Given the description of an element on the screen output the (x, y) to click on. 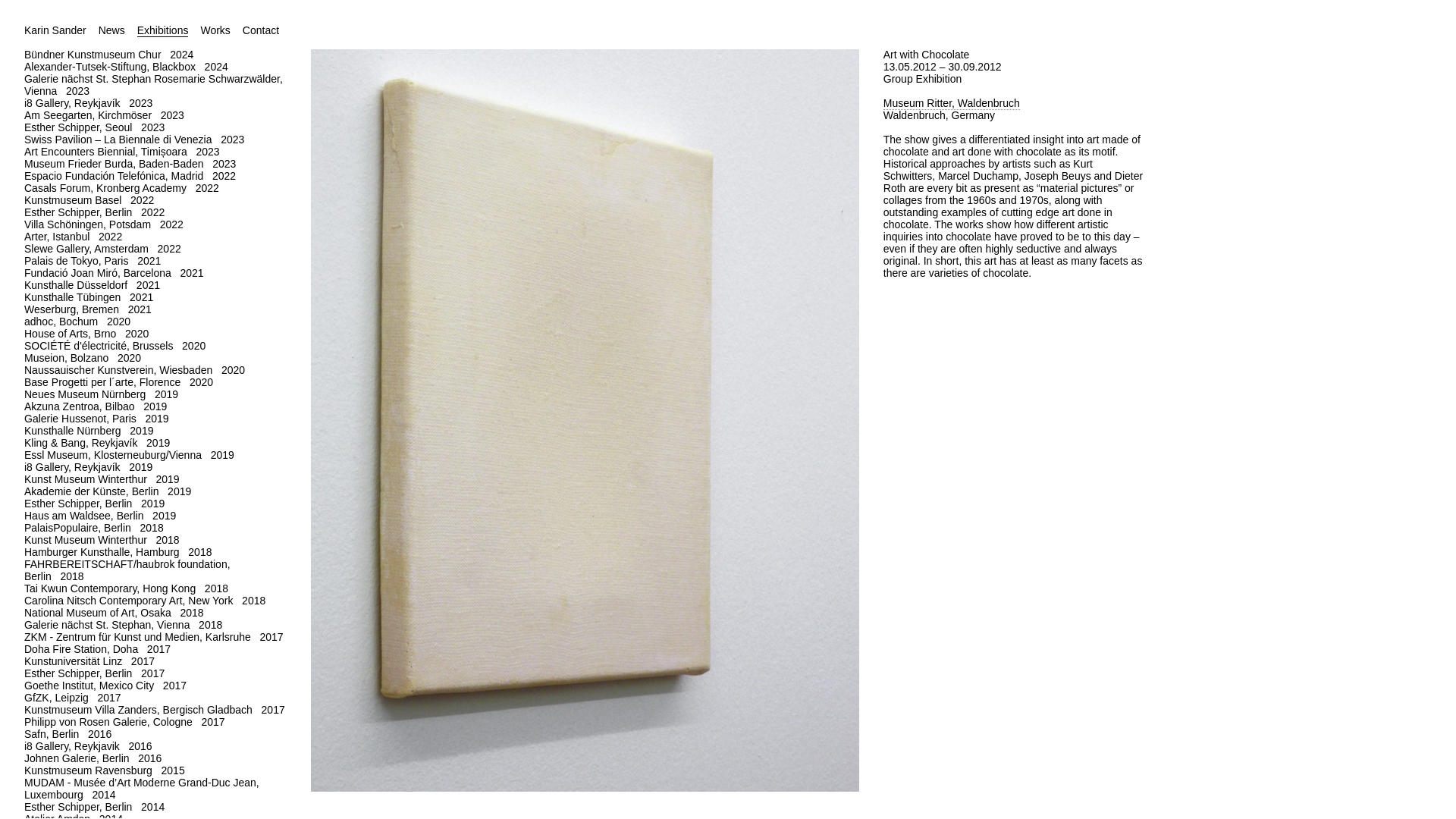
Karin Sander (54, 30)
House of Arts, Brno   2020 (155, 333)
Galerie Hussenot, Paris   2019 (155, 418)
Kunst Museum Winterthur   2019 (155, 479)
News (112, 30)
Naussauischer Kunstverein, Wiesbaden   2020 (155, 369)
Palais de Tokyo, Paris   2021 (155, 260)
Contact (261, 30)
Museion, Bolzano   2020 (155, 357)
Casals Forum, Kronberg Academy   2022 (155, 187)
